Given the description of an element on the screen output the (x, y) to click on. 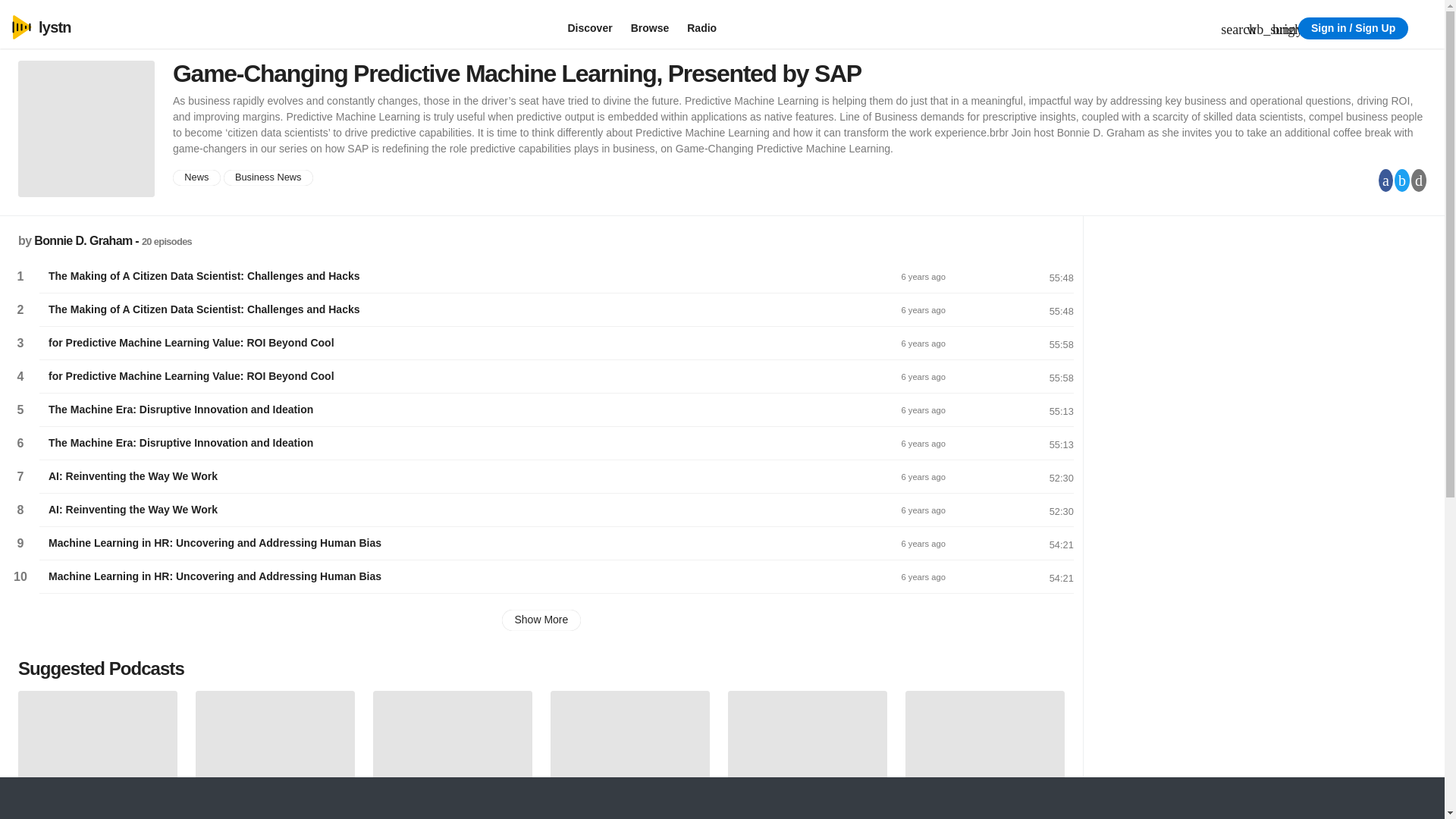
Browse (649, 26)
Business News (268, 177)
The Making of A Citizen Data Scientist: Challenges and Hacks (470, 276)
Show More (541, 620)
The Machine Era: Disruptive Innovation and Ideation (470, 409)
lystn (30, 26)
for Predictive Machine Learning Value: ROI Beyond Cool (470, 376)
for Predictive Machine Learning Value: ROI Beyond Cool (470, 343)
Bonnie D. Graham (82, 240)
The Making of A Citizen Data Scientist: Challenges and Hacks (470, 309)
